Given the description of an element on the screen output the (x, y) to click on. 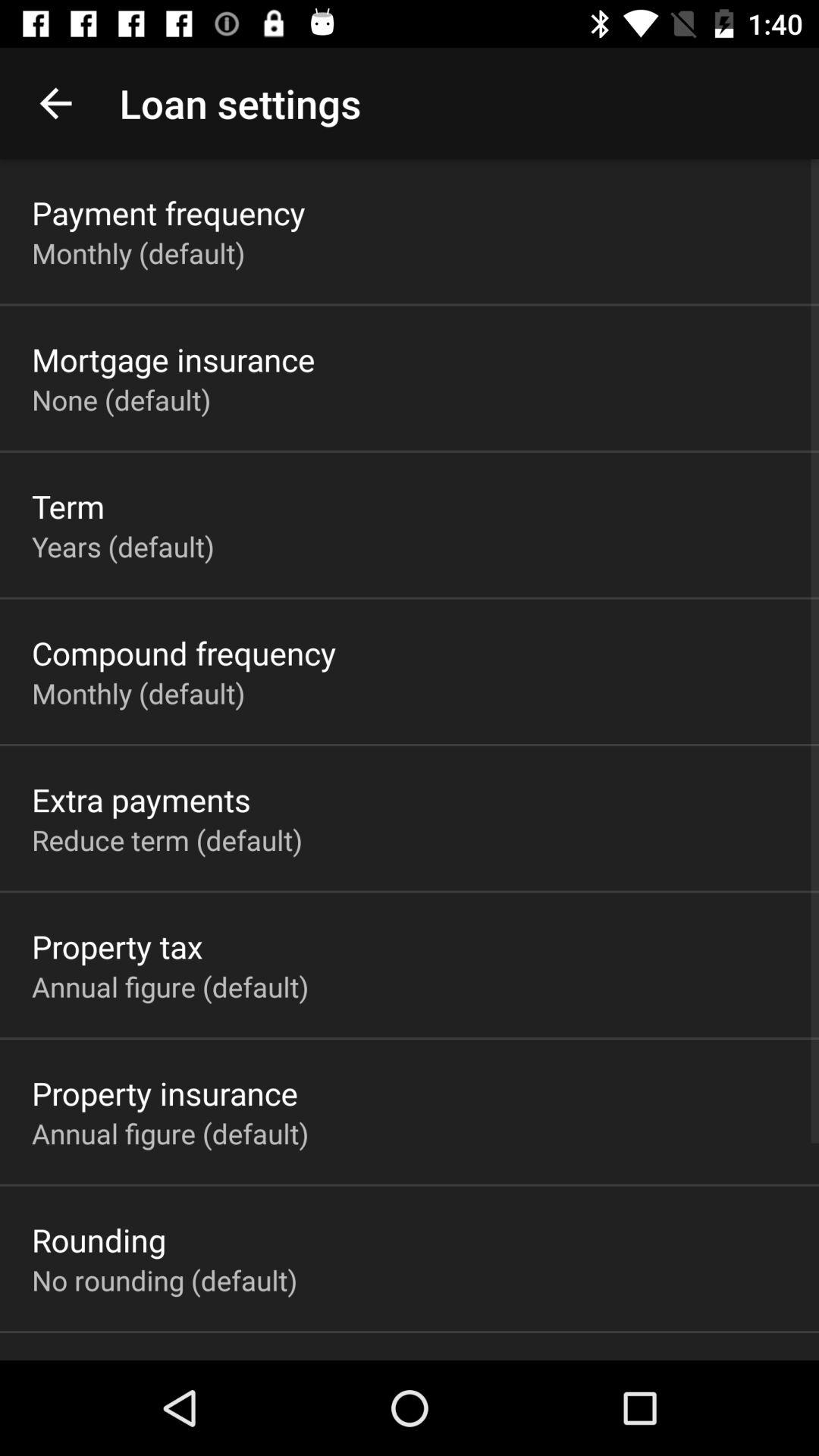
select the app above payment frequency app (55, 103)
